Given the description of an element on the screen output the (x, y) to click on. 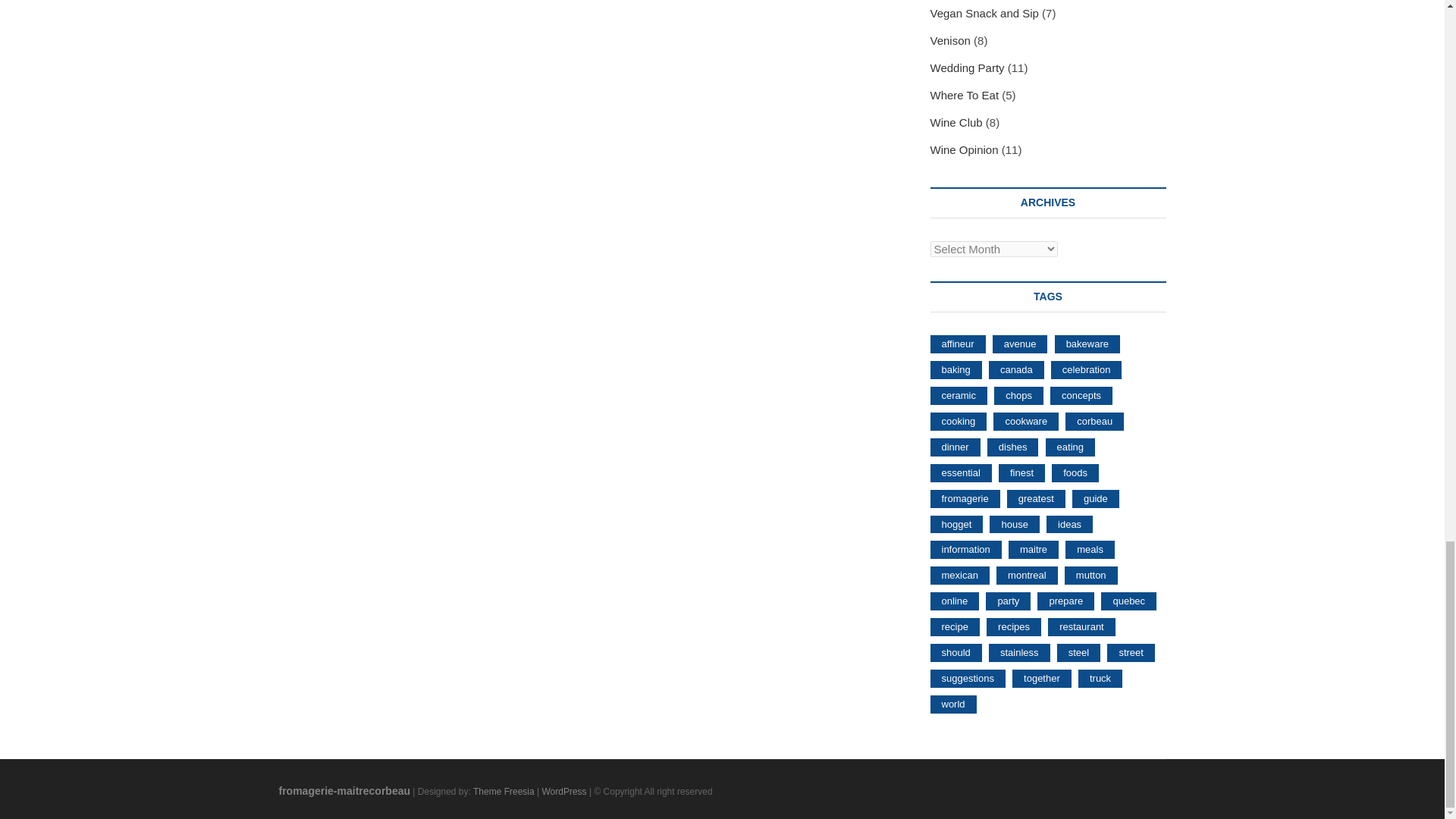
Theme Freesia (503, 791)
WordPress (563, 791)
fromagerie-maitrecorbeau (344, 790)
